Given the description of an element on the screen output the (x, y) to click on. 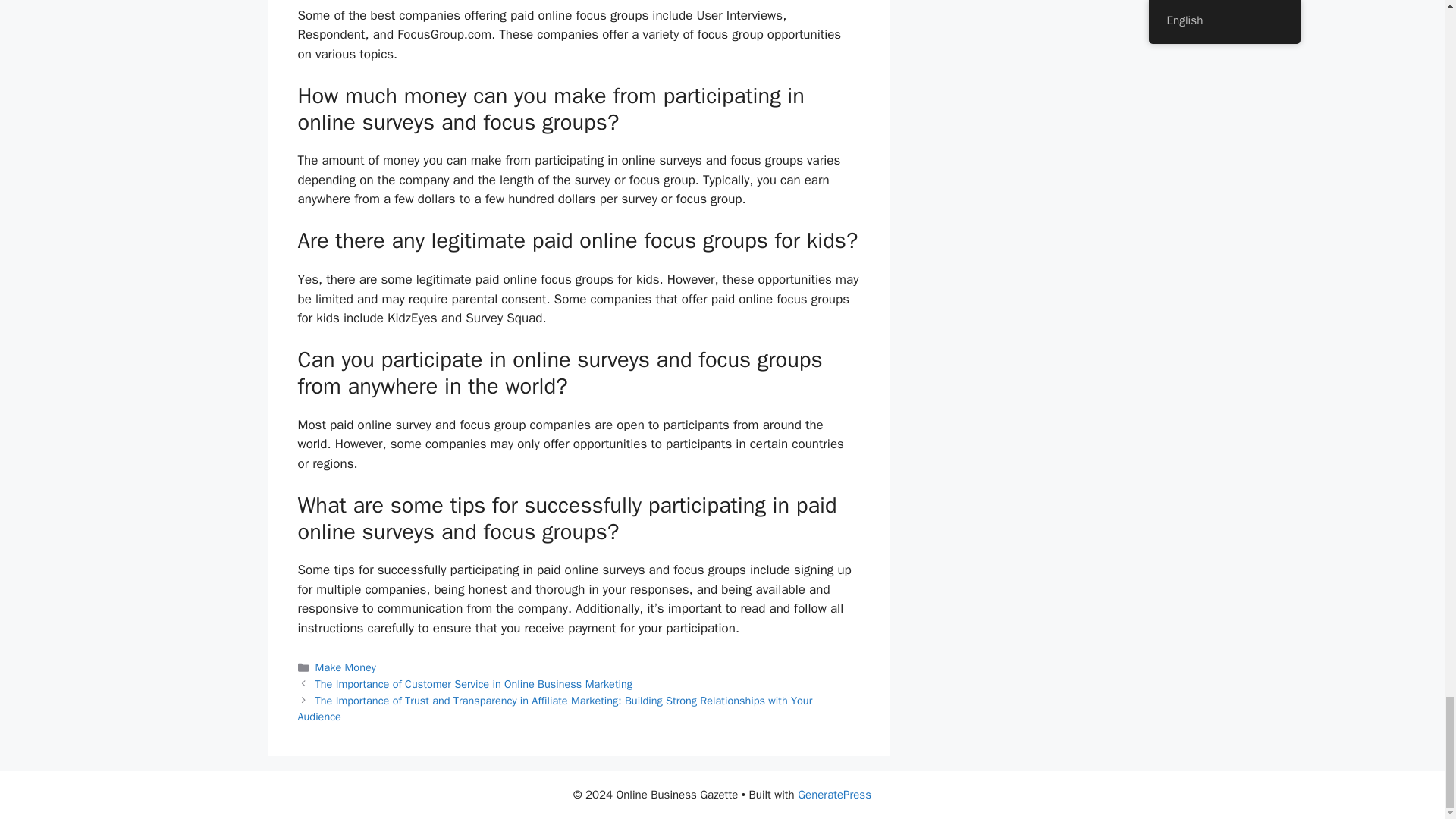
GeneratePress (833, 794)
Make Money (345, 667)
